Given the description of an element on the screen output the (x, y) to click on. 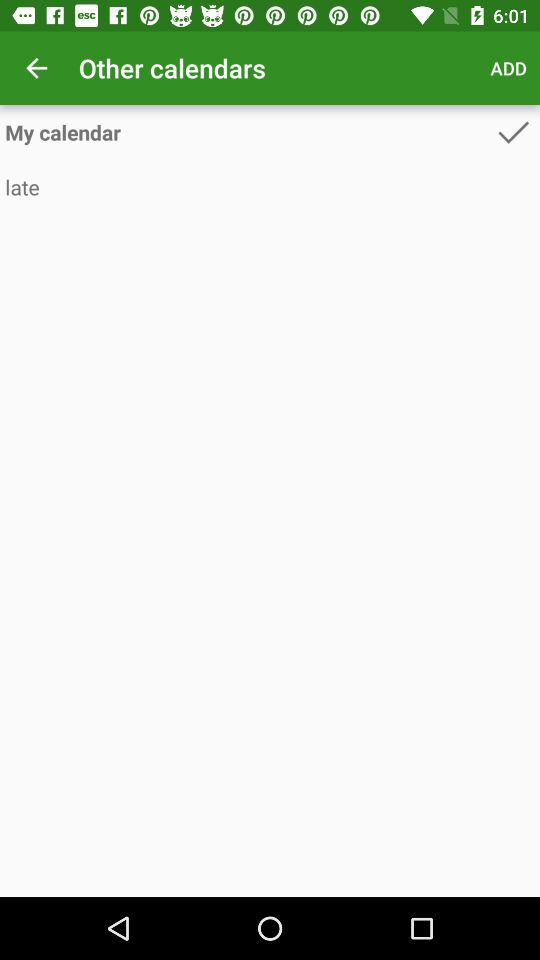
launch app next to other calendars icon (508, 67)
